Given the description of an element on the screen output the (x, y) to click on. 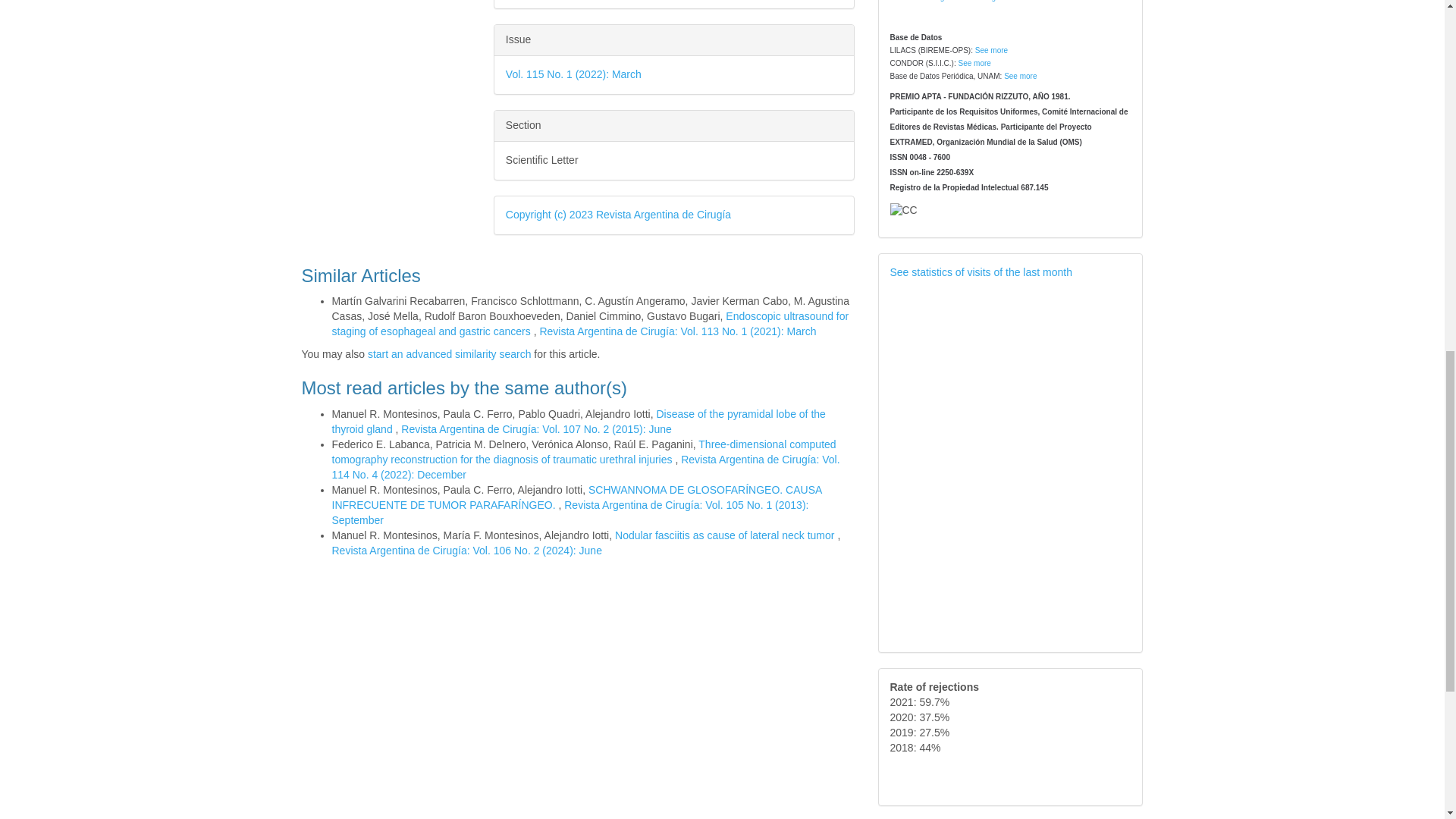
See more (991, 49)
See more (974, 62)
See more (1020, 76)
